Given the description of an element on the screen output the (x, y) to click on. 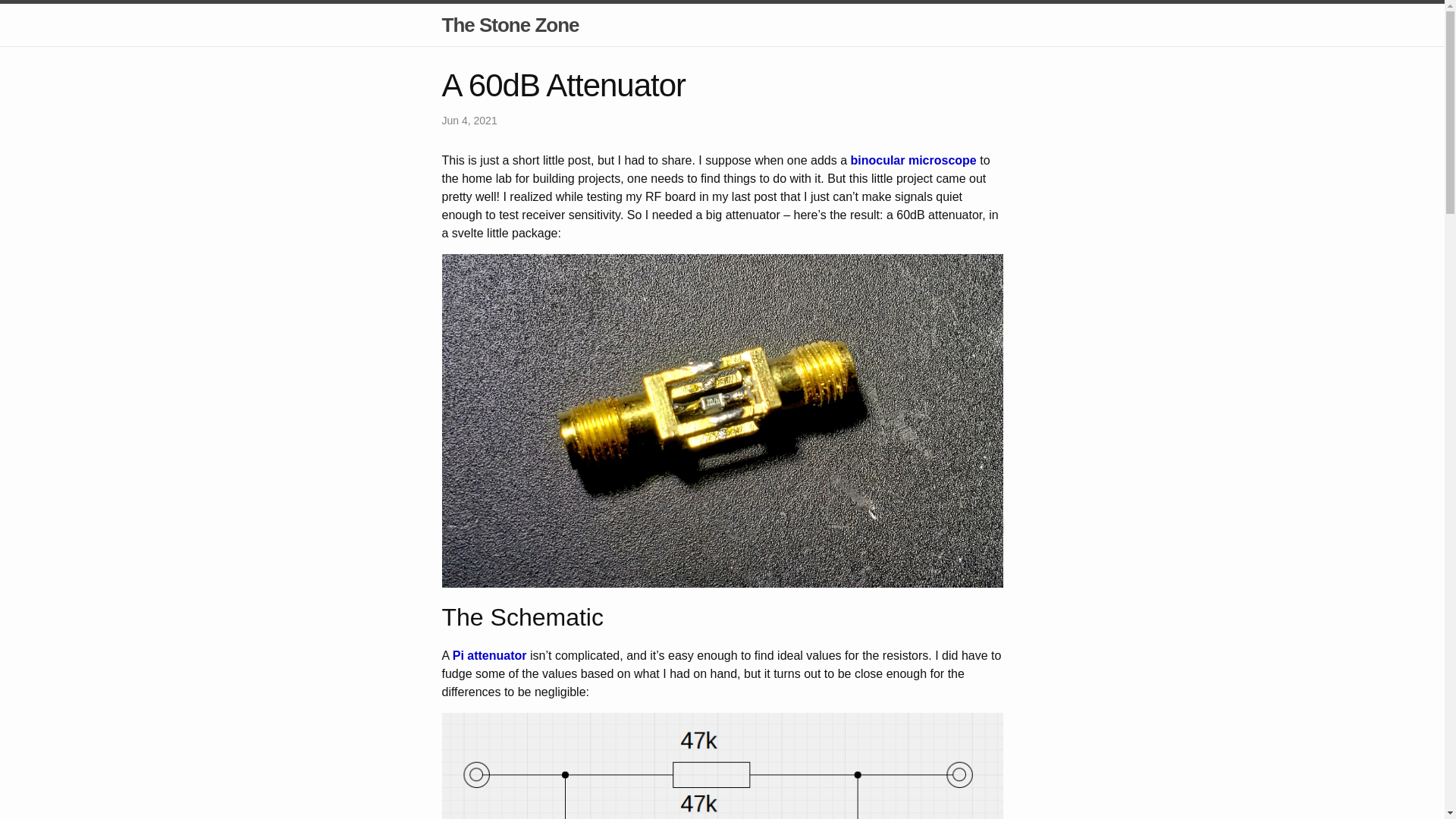
binocular microscope (912, 160)
The Stone Zone (509, 24)
Pi attenuator (489, 655)
